Given the description of an element on the screen output the (x, y) to click on. 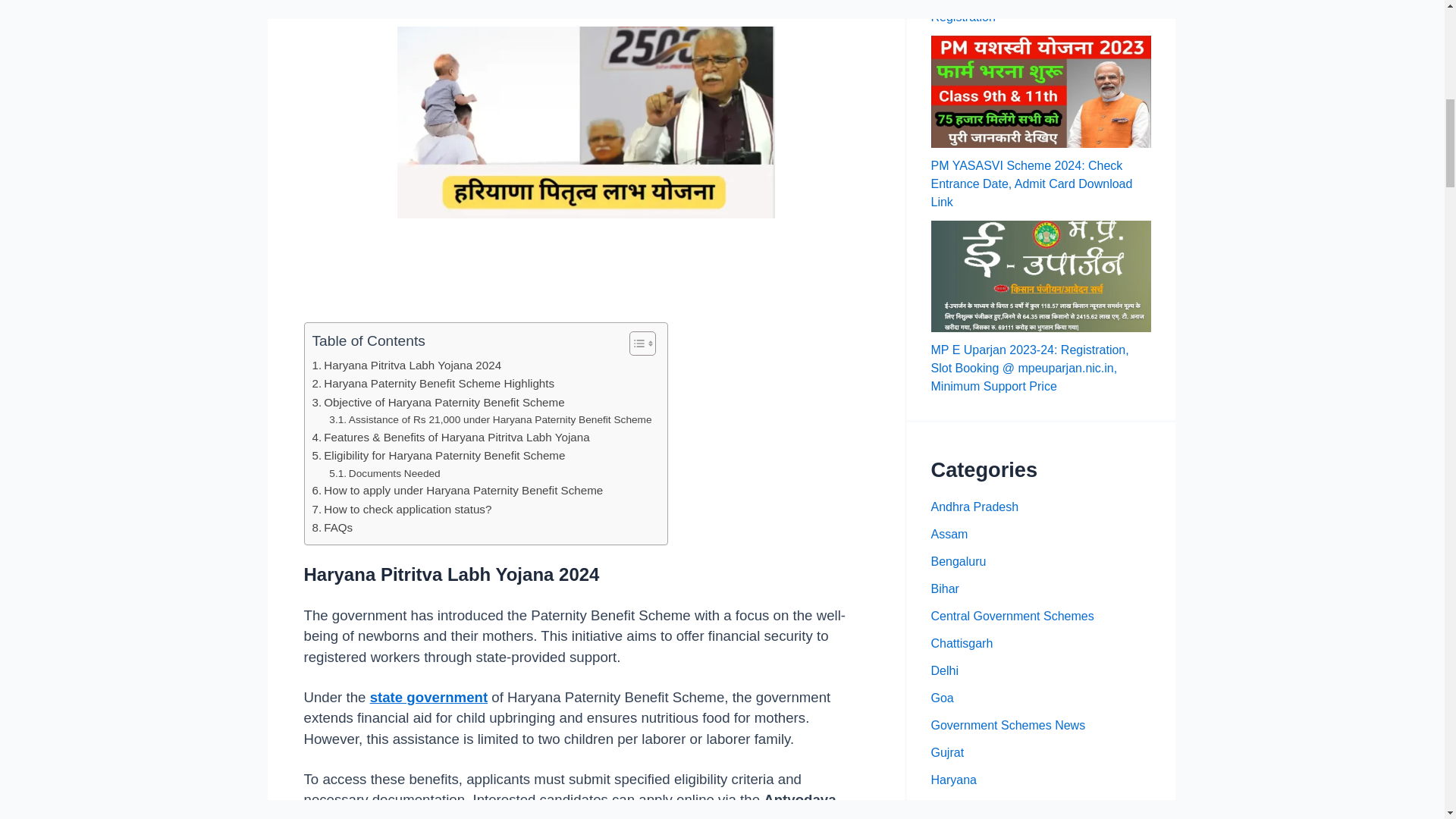
Eligibility for Haryana Paternity Benefit Scheme (439, 455)
FAQs (333, 527)
Objective of Haryana Paternity Benefit Scheme (438, 402)
Documents Needed (384, 474)
Haryana Paternity Benefit Scheme Highlights (433, 383)
Documents Needed (384, 474)
How to check application status? (402, 509)
Eligibility for Haryana Paternity Benefit Scheme (439, 455)
Haryana Pitritva Labh Yojana 2024 (407, 365)
How to apply under Haryana Paternity Benefit Scheme (458, 490)
How to check application status? (402, 509)
How to apply under Haryana Paternity Benefit Scheme (458, 490)
state government (428, 697)
